Given the description of an element on the screen output the (x, y) to click on. 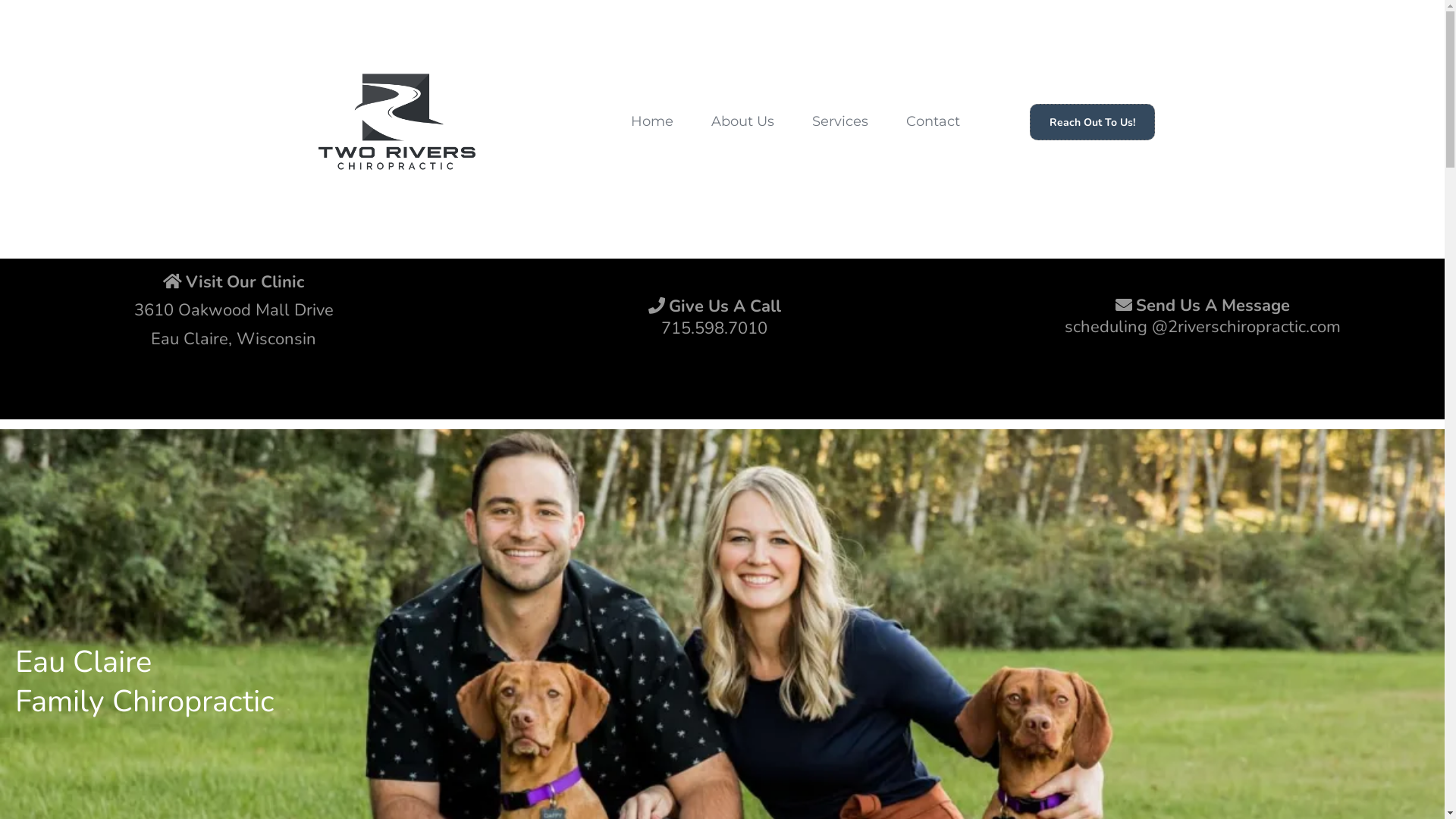
Contact Element type: text (933, 121)
Reach Out To Us! Element type: text (1091, 121)
About Us Element type: text (742, 121)
Services Element type: text (840, 121)
Home Element type: text (651, 121)
